Given the description of an element on the screen output the (x, y) to click on. 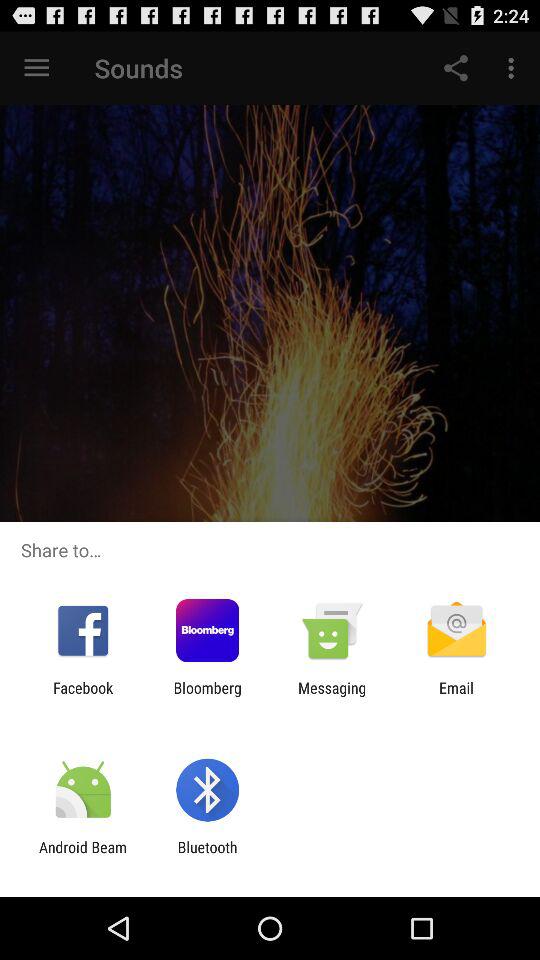
tap app to the right of the facebook icon (207, 696)
